Given the description of an element on the screen output the (x, y) to click on. 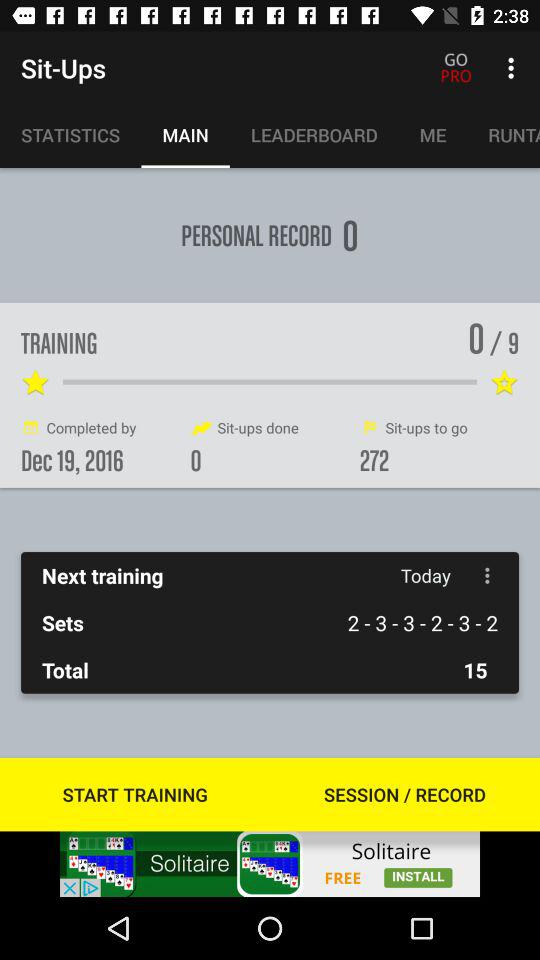
open hamburger menu (487, 575)
